Given the description of an element on the screen output the (x, y) to click on. 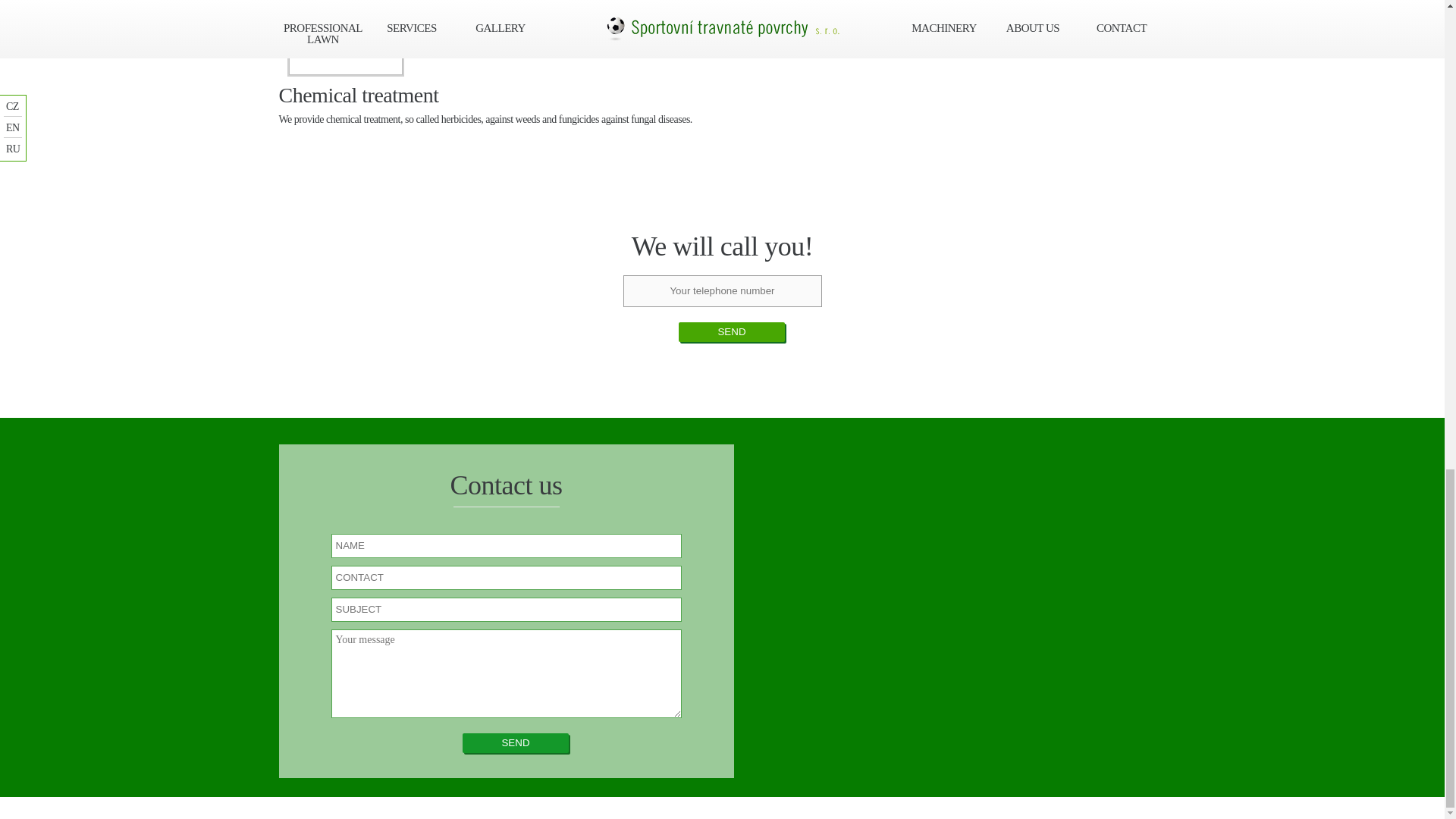
Send (516, 742)
Send (731, 332)
Send (516, 742)
Send (731, 332)
